Given the description of an element on the screen output the (x, y) to click on. 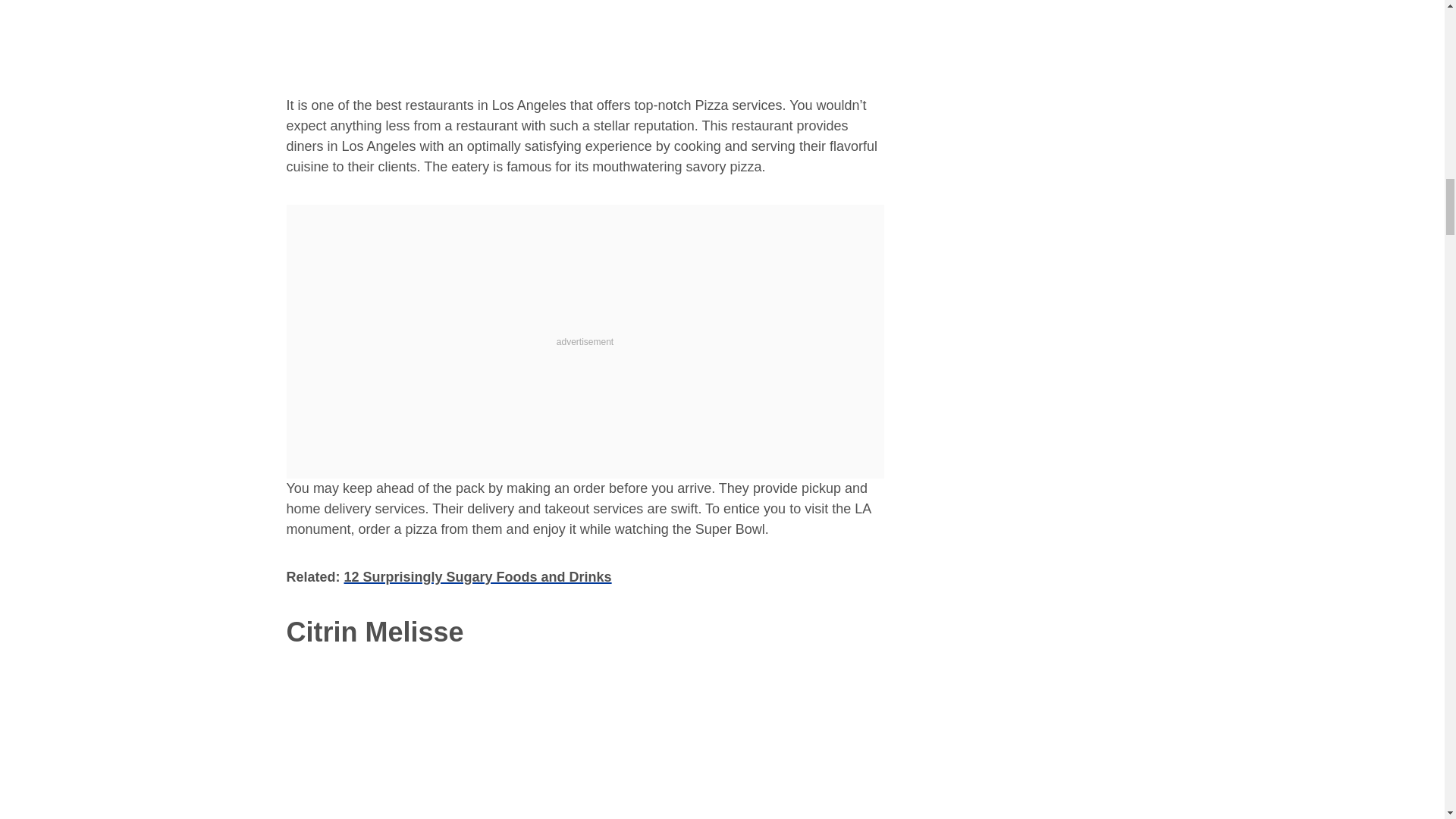
Citrin Melisse (375, 631)
Citrin Melisse- Michelin star restaurant in Los Angeles (584, 741)
12 Surprisingly Sugary Foods and Drinks (477, 576)
